Given the description of an element on the screen output the (x, y) to click on. 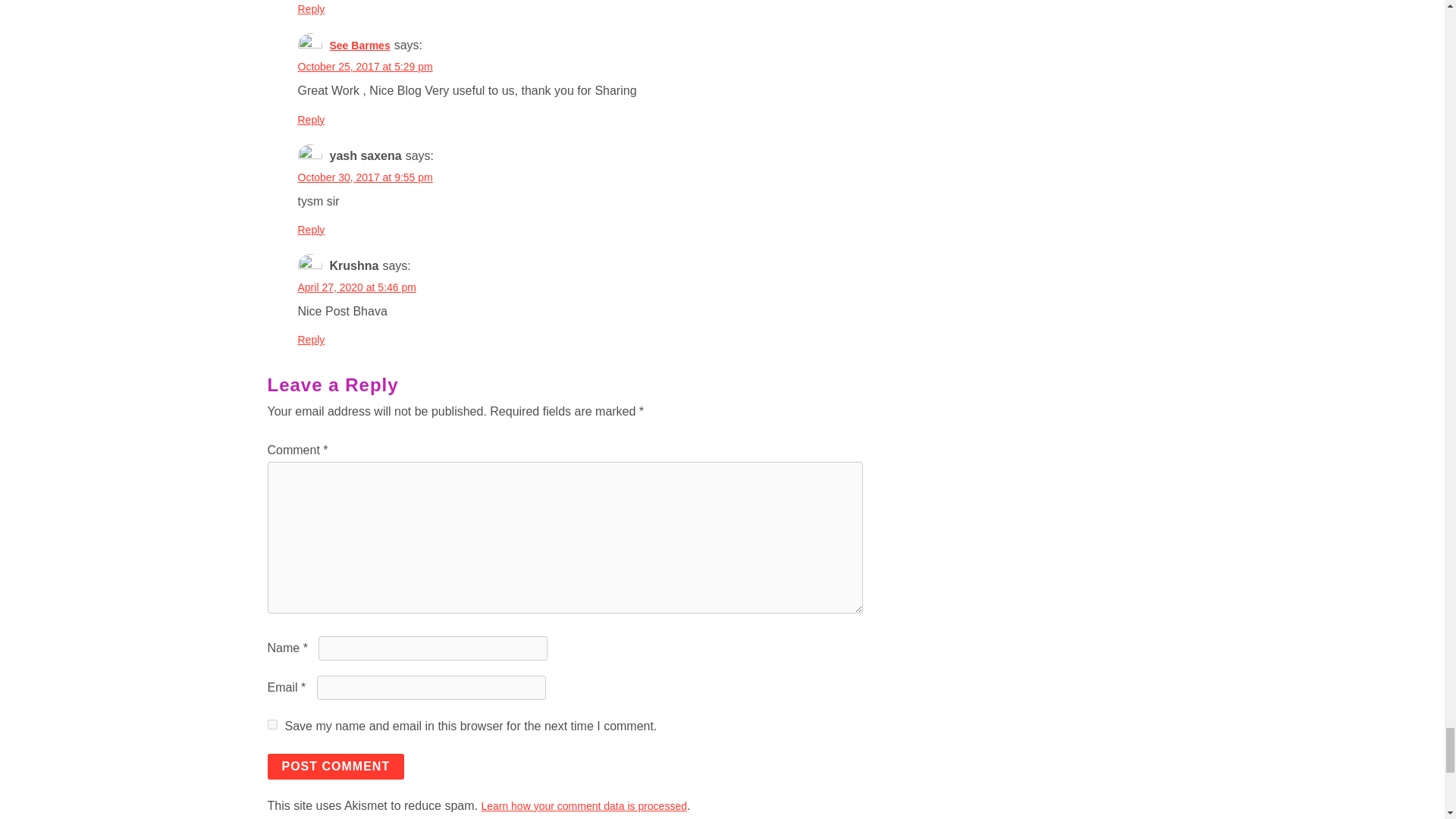
yes (271, 724)
Post Comment (335, 766)
